Given the description of an element on the screen output the (x, y) to click on. 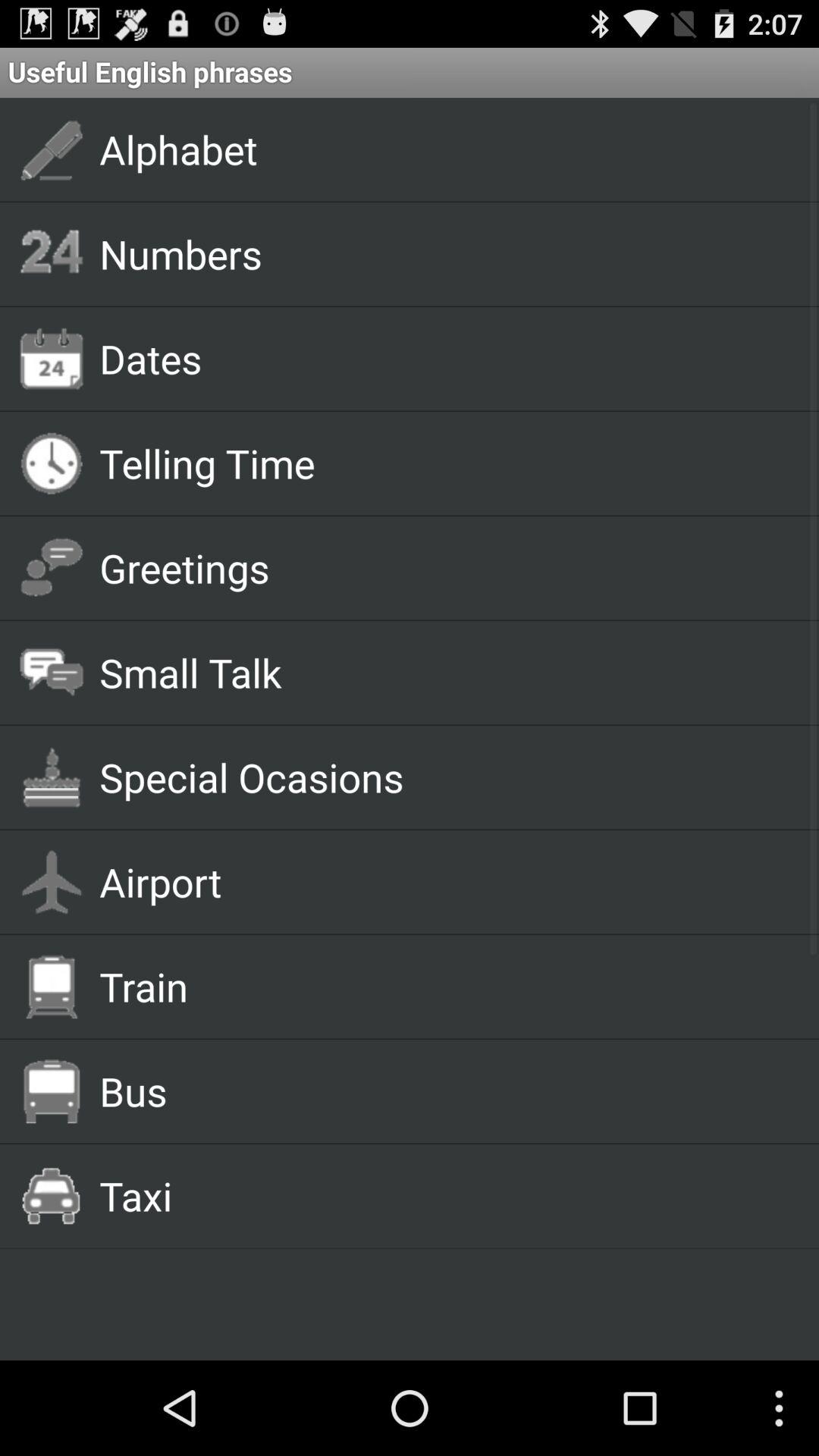
swipe to the dates item (441, 358)
